Given the description of an element on the screen output the (x, y) to click on. 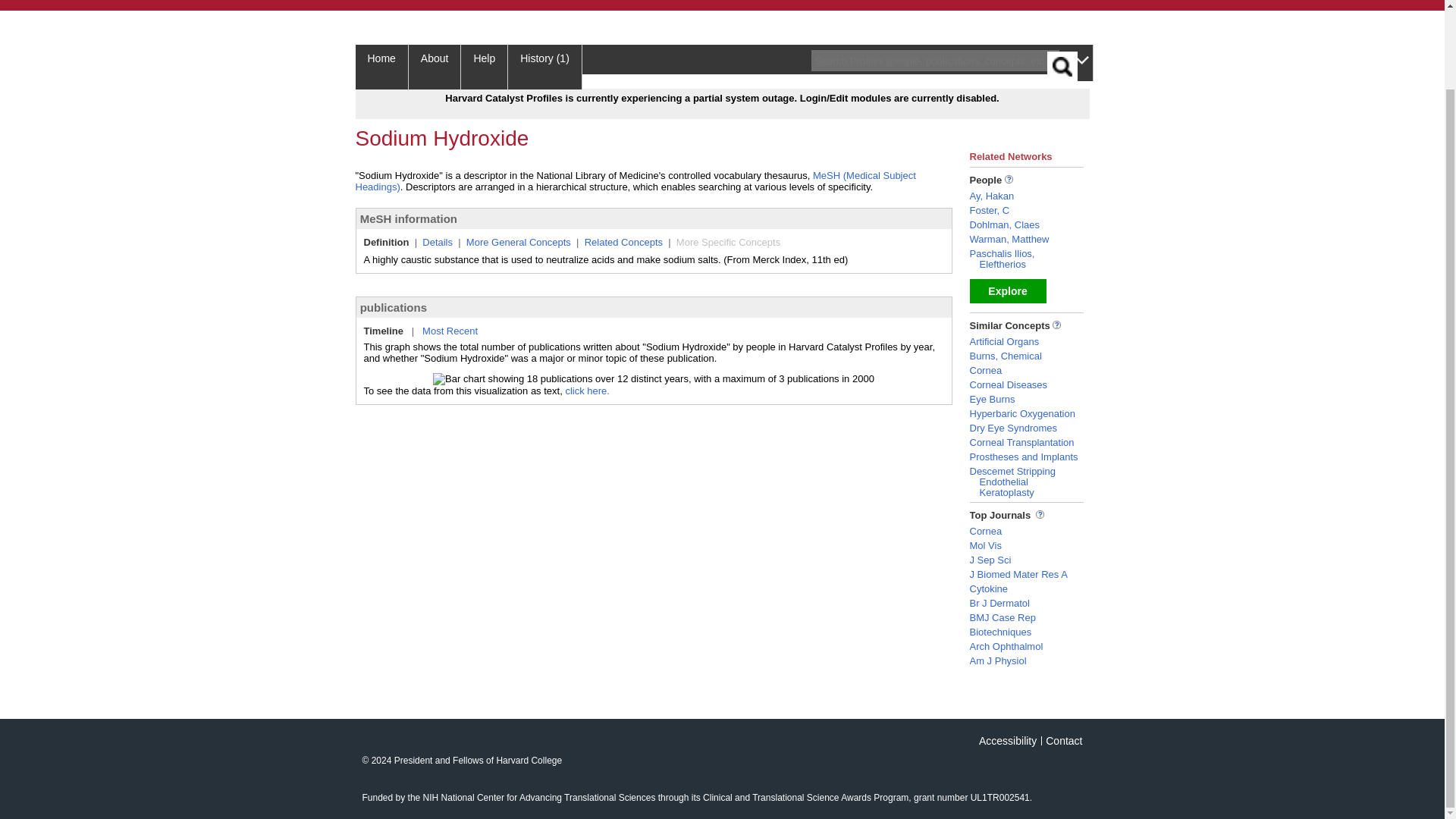
Help (484, 67)
Details (437, 242)
Definition (386, 242)
About (435, 67)
Related Concepts (623, 242)
Contact (1063, 740)
More General Concepts (517, 242)
MeSH information (408, 218)
Accessibility (1007, 740)
Home (381, 67)
More Specific Concepts (728, 242)
